Given the description of an element on the screen output the (x, y) to click on. 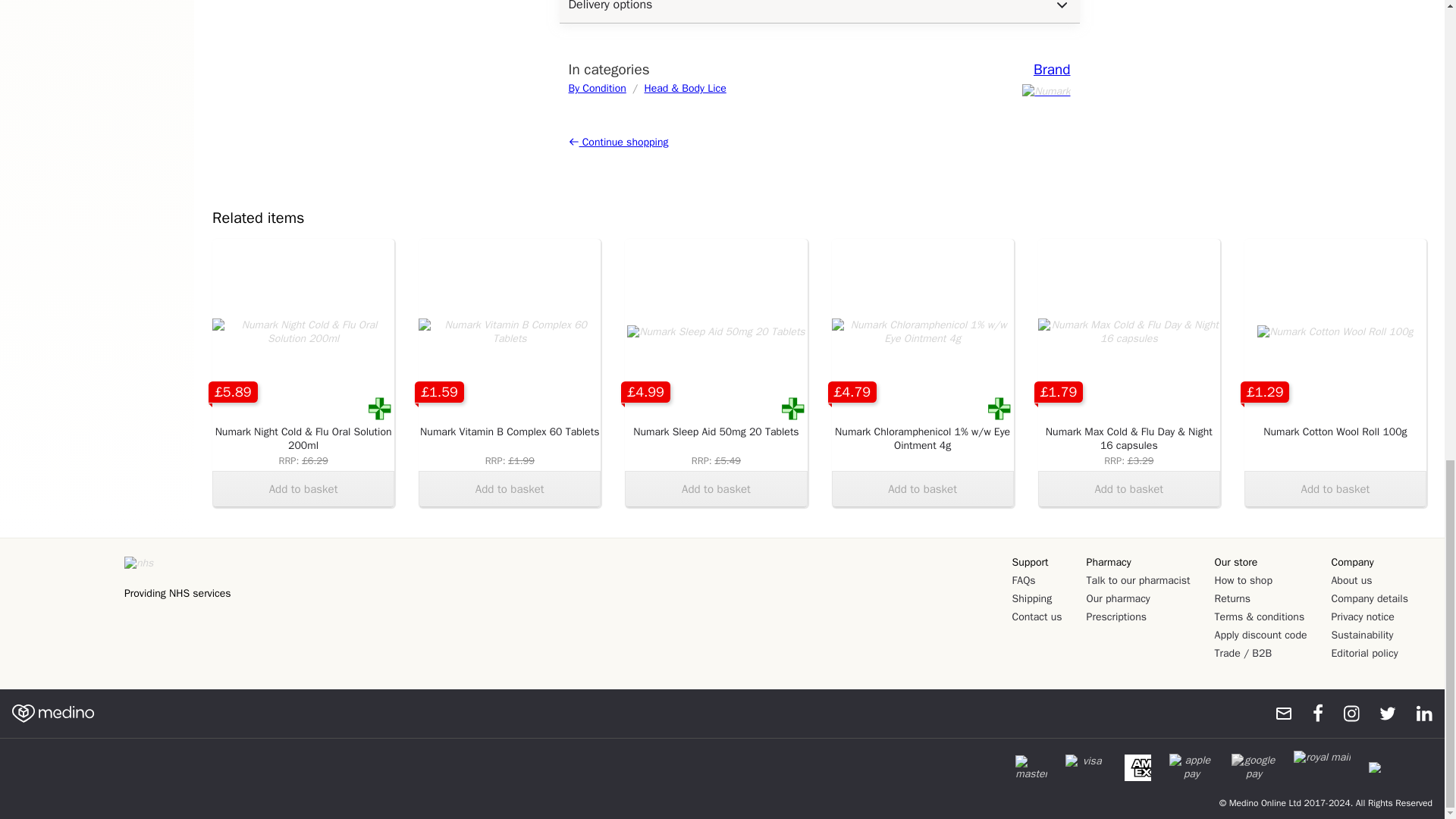
medino on facebook (1307, 713)
medino on twitter (1380, 713)
medino on instagram (1344, 713)
medino on linkedIn (1417, 713)
Reviews Badge Widget (64, 603)
Subscribe to our newsletter (1277, 713)
home (52, 713)
